Given the description of an element on the screen output the (x, y) to click on. 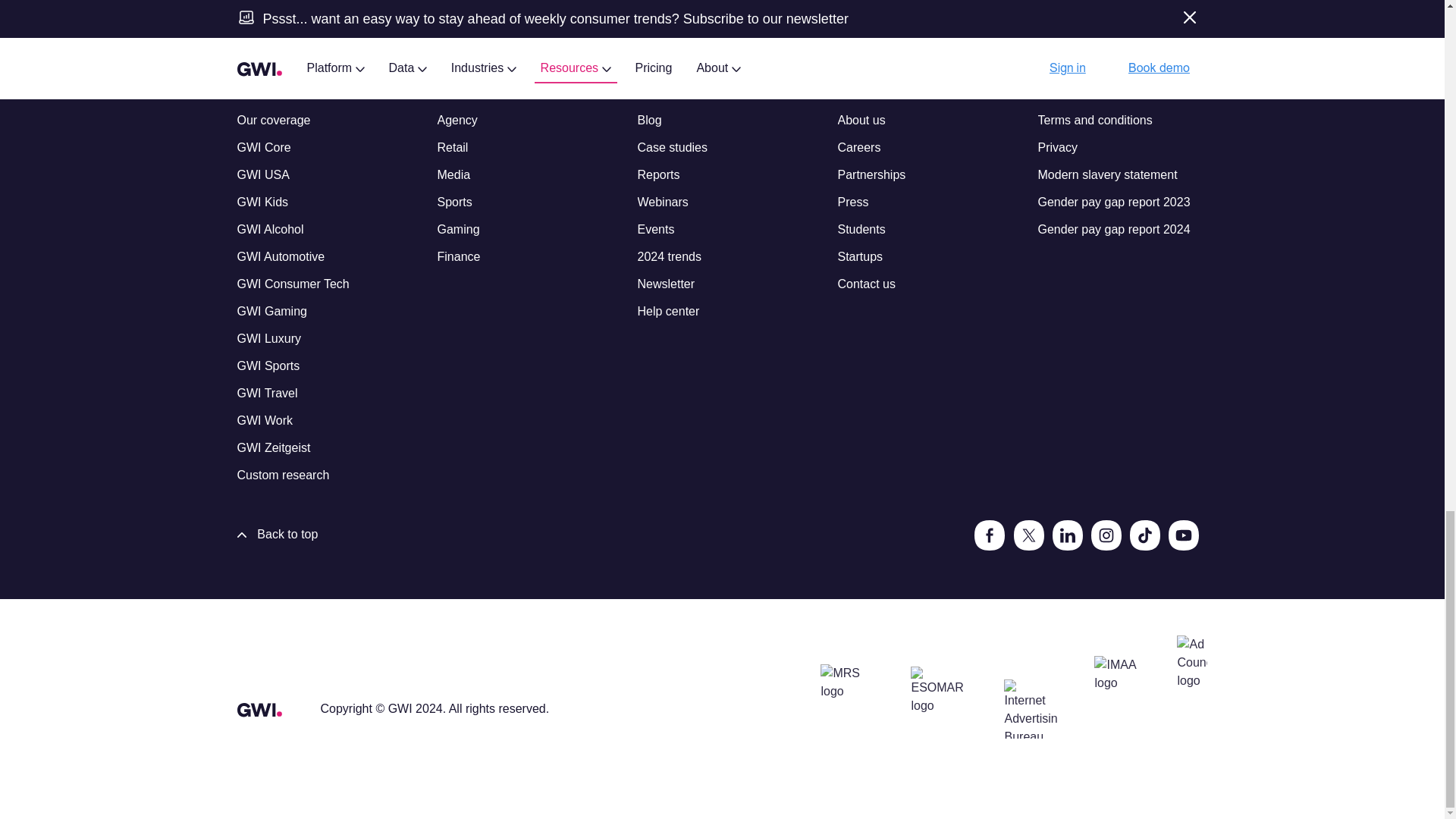
Back to top (276, 535)
